Given the description of an element on the screen output the (x, y) to click on. 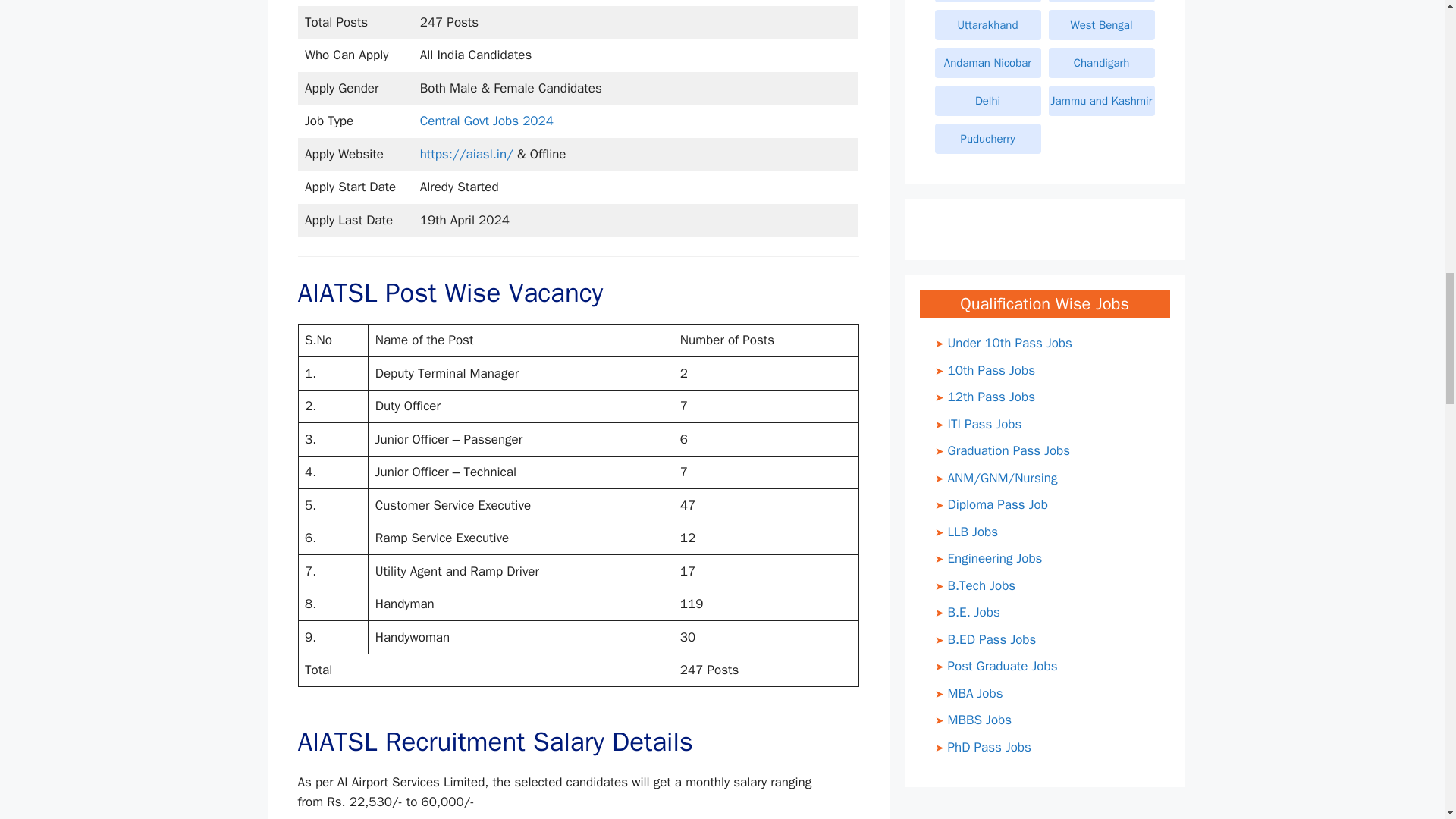
Central Govt Jobs 2024 (486, 120)
